Given the description of an element on the screen output the (x, y) to click on. 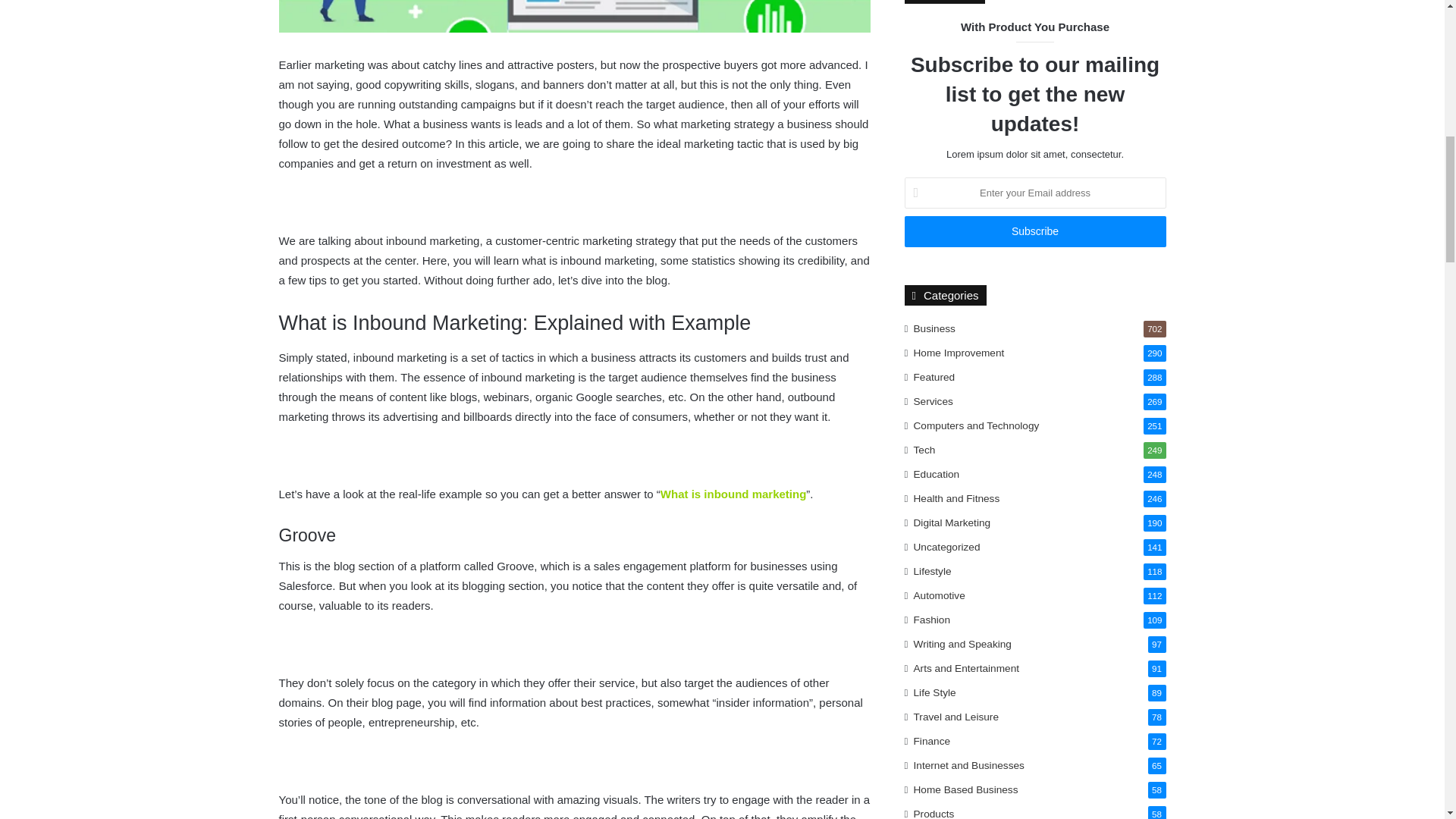
What is inbound marketing (733, 493)
Subscribe (1035, 231)
